Given the description of an element on the screen output the (x, y) to click on. 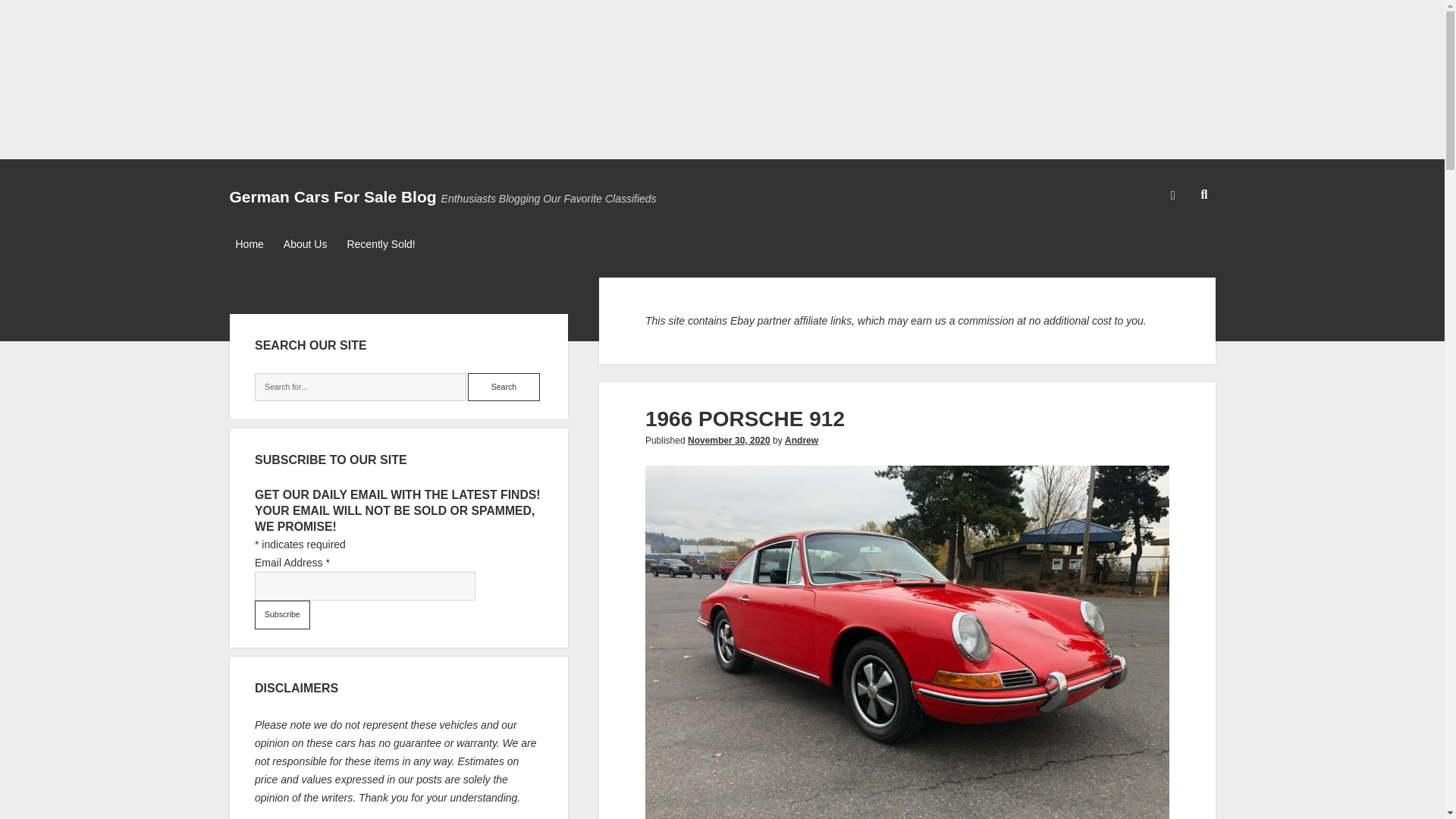
Search (503, 387)
Search (503, 387)
Home (248, 244)
About Us (305, 244)
Search (503, 387)
Subscribe (282, 614)
German Cars For Sale Blog (331, 196)
November 30, 2020 (728, 439)
Search for: (359, 387)
Recently Sold! (380, 244)
